Given the description of an element on the screen output the (x, y) to click on. 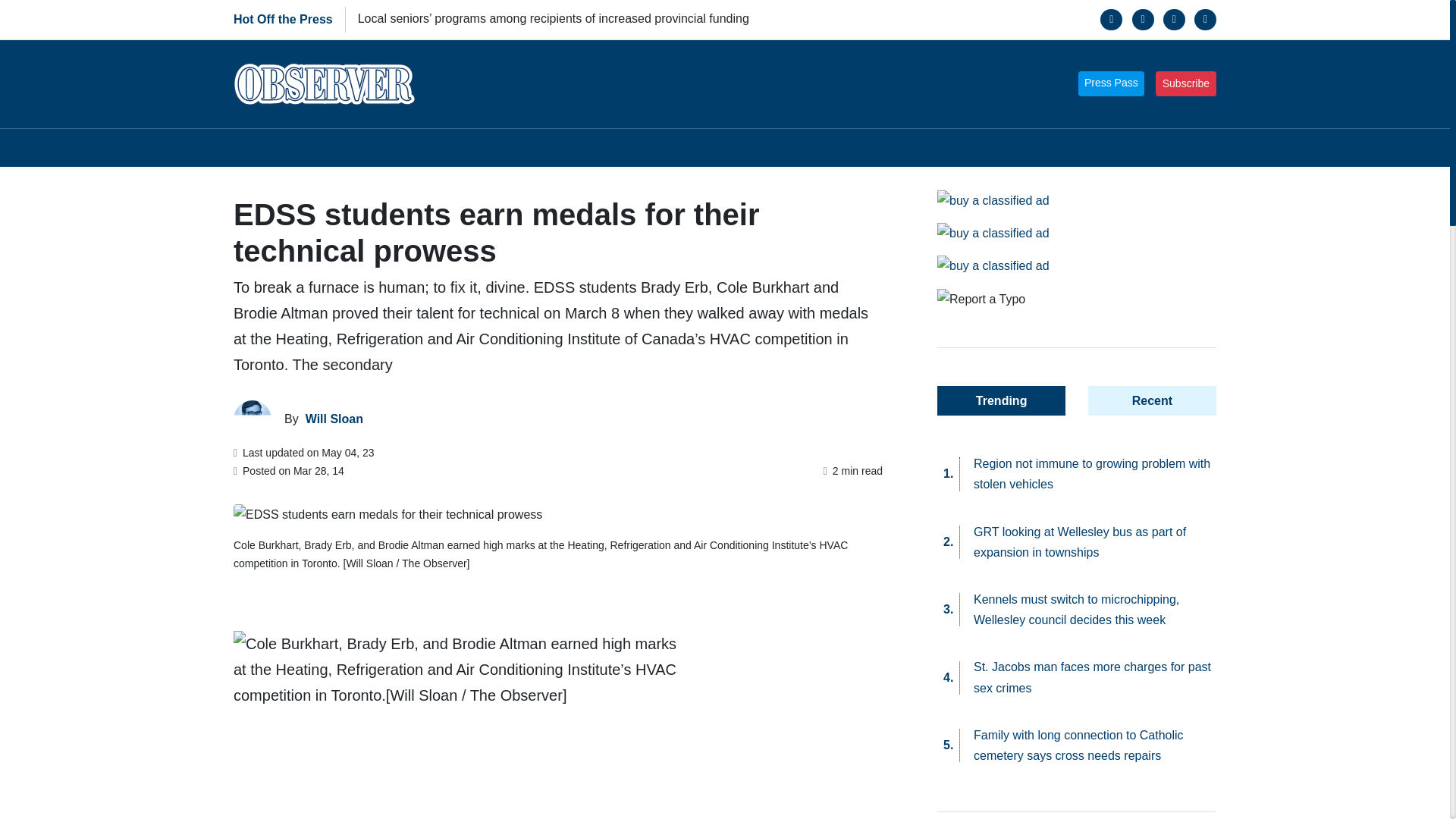
Subscribe (1185, 84)
Press Pass (1111, 84)
